Given the description of an element on the screen output the (x, y) to click on. 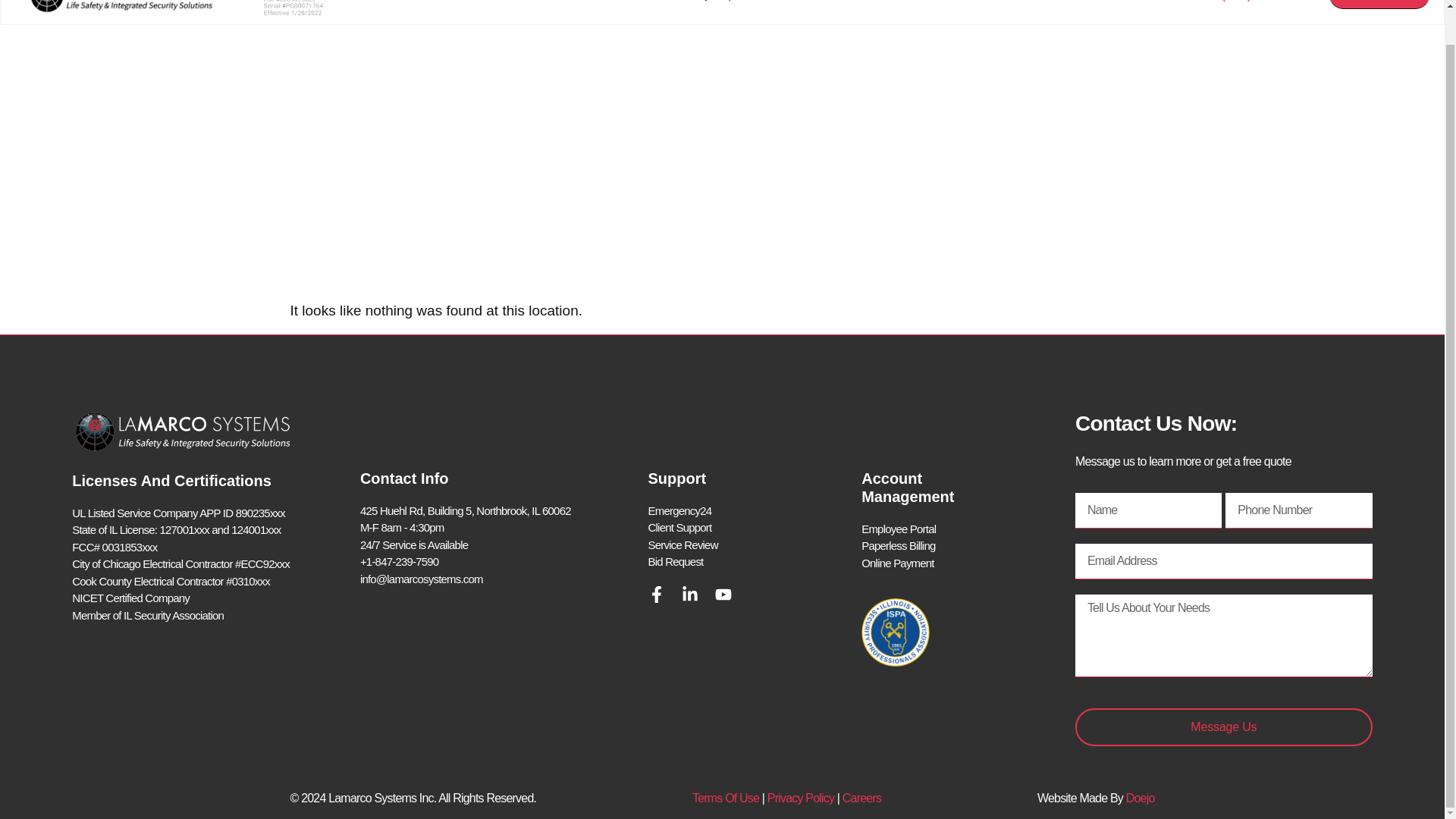
Our Solutions (559, 2)
Industry Expertise (715, 2)
About Lamarco (876, 2)
Contact Us (1018, 2)
Home (451, 2)
